Given the description of an element on the screen output the (x, y) to click on. 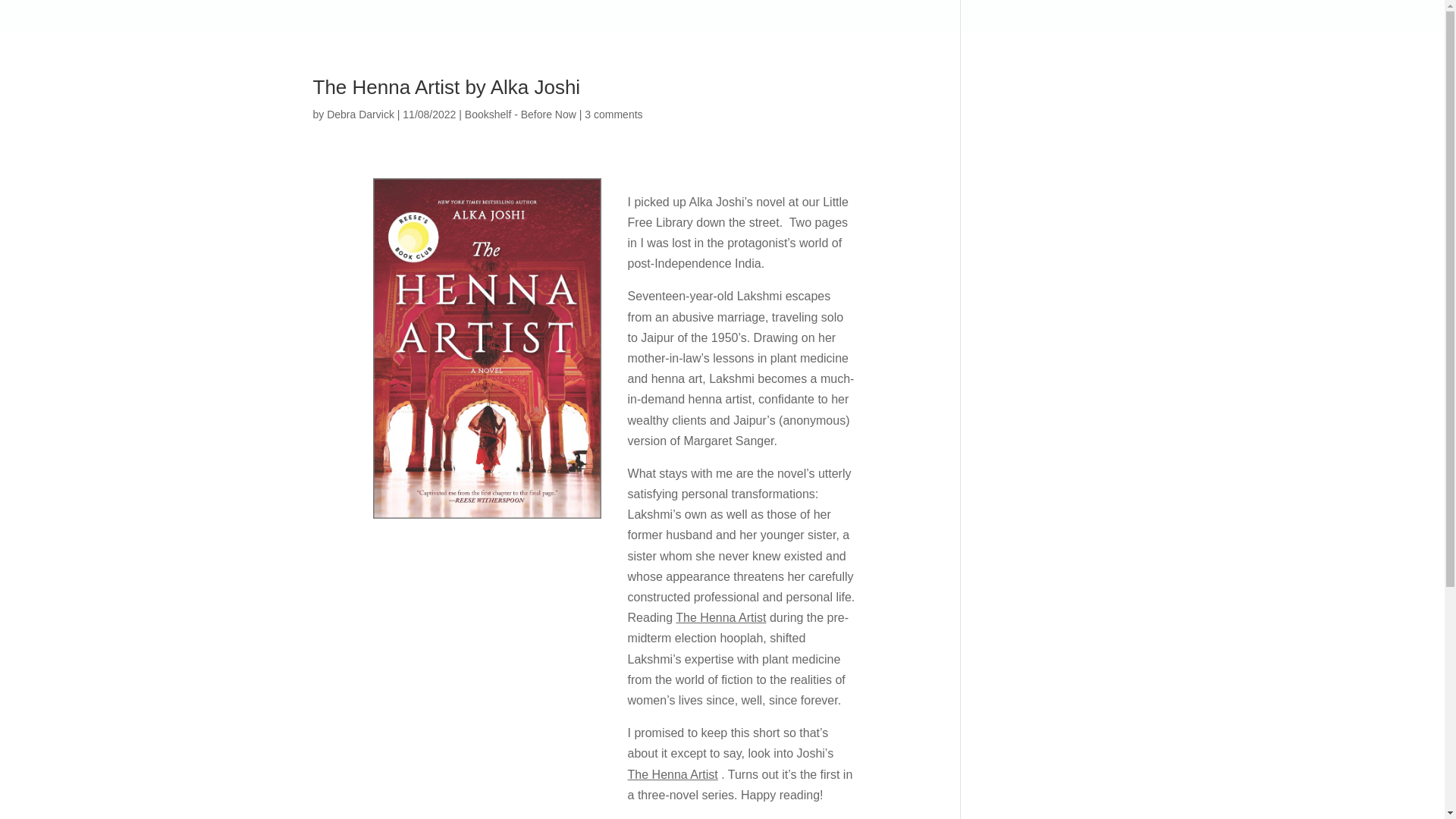
Bookshelf - Before Now (520, 114)
Debra Darvick (360, 114)
3 comments (613, 114)
91SQeTgvx3L (486, 348)
The Henna Artist by Alka Joshi (446, 87)
Posts by Debra Darvick (360, 114)
MENU (1107, 22)
